Given the description of an element on the screen output the (x, y) to click on. 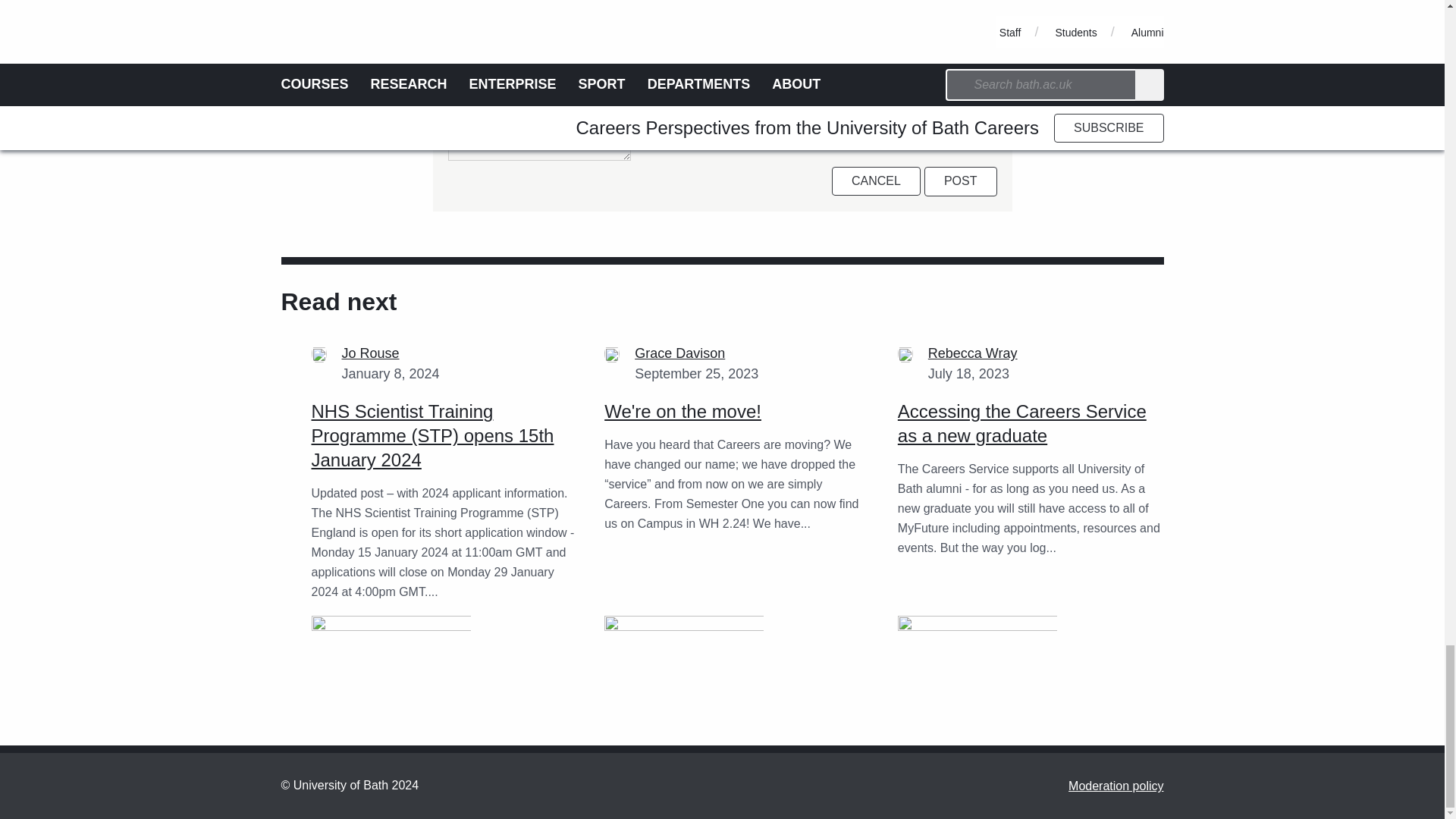
Post (960, 180)
We're on the move! (682, 411)
Accessing the Careers Service as a new graduate (1022, 423)
Accessing the Careers Service as a new graduate (977, 661)
We're on the move! (683, 661)
